Given the description of an element on the screen output the (x, y) to click on. 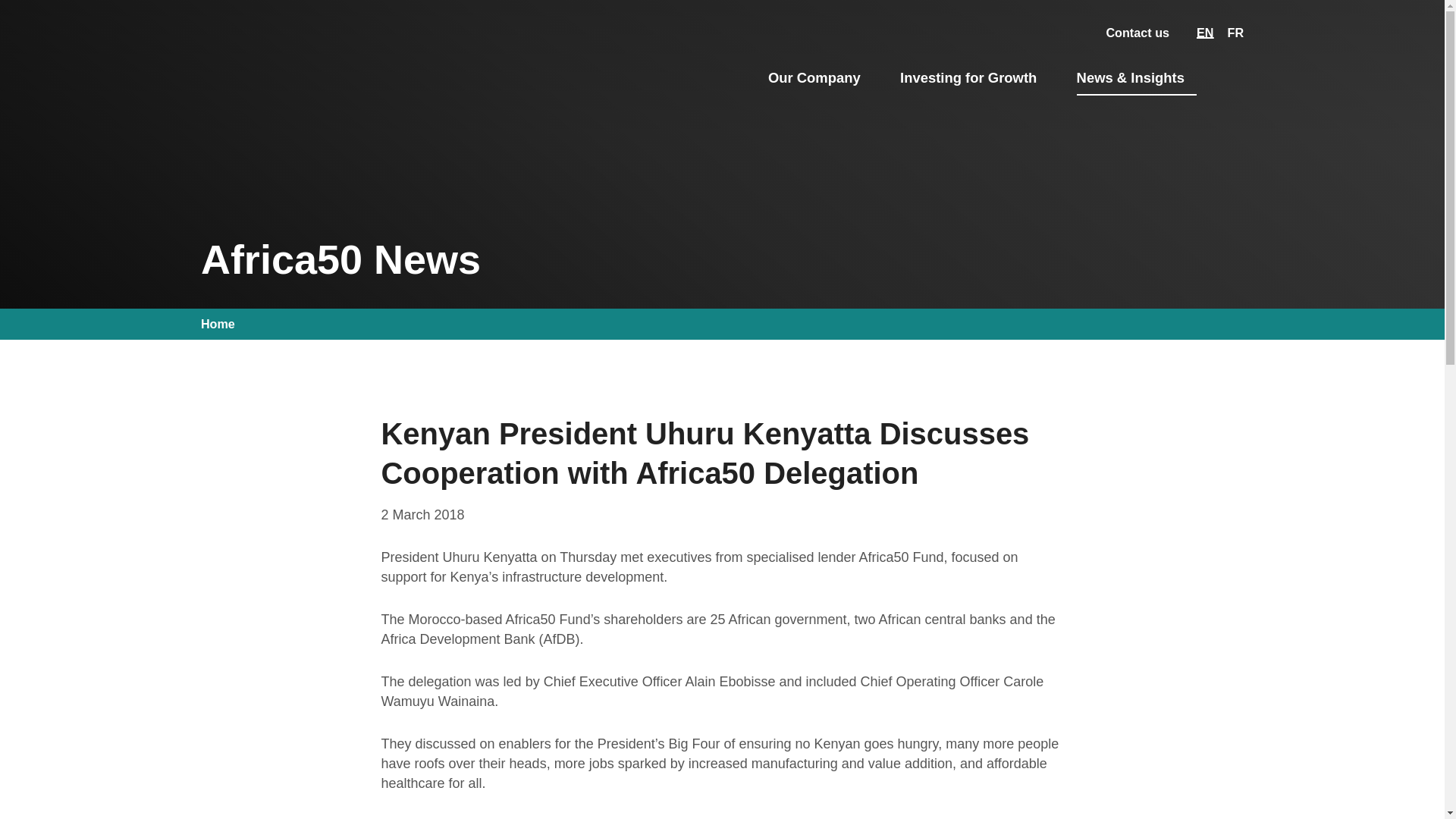
Contact us (1137, 32)
Our Company (820, 75)
Investing for Growth (974, 75)
Africa50 News (1198, 32)
EN (1198, 32)
Home (222, 323)
FR (1229, 32)
Our Company (820, 75)
Contact us (1137, 32)
